Given the description of an element on the screen output the (x, y) to click on. 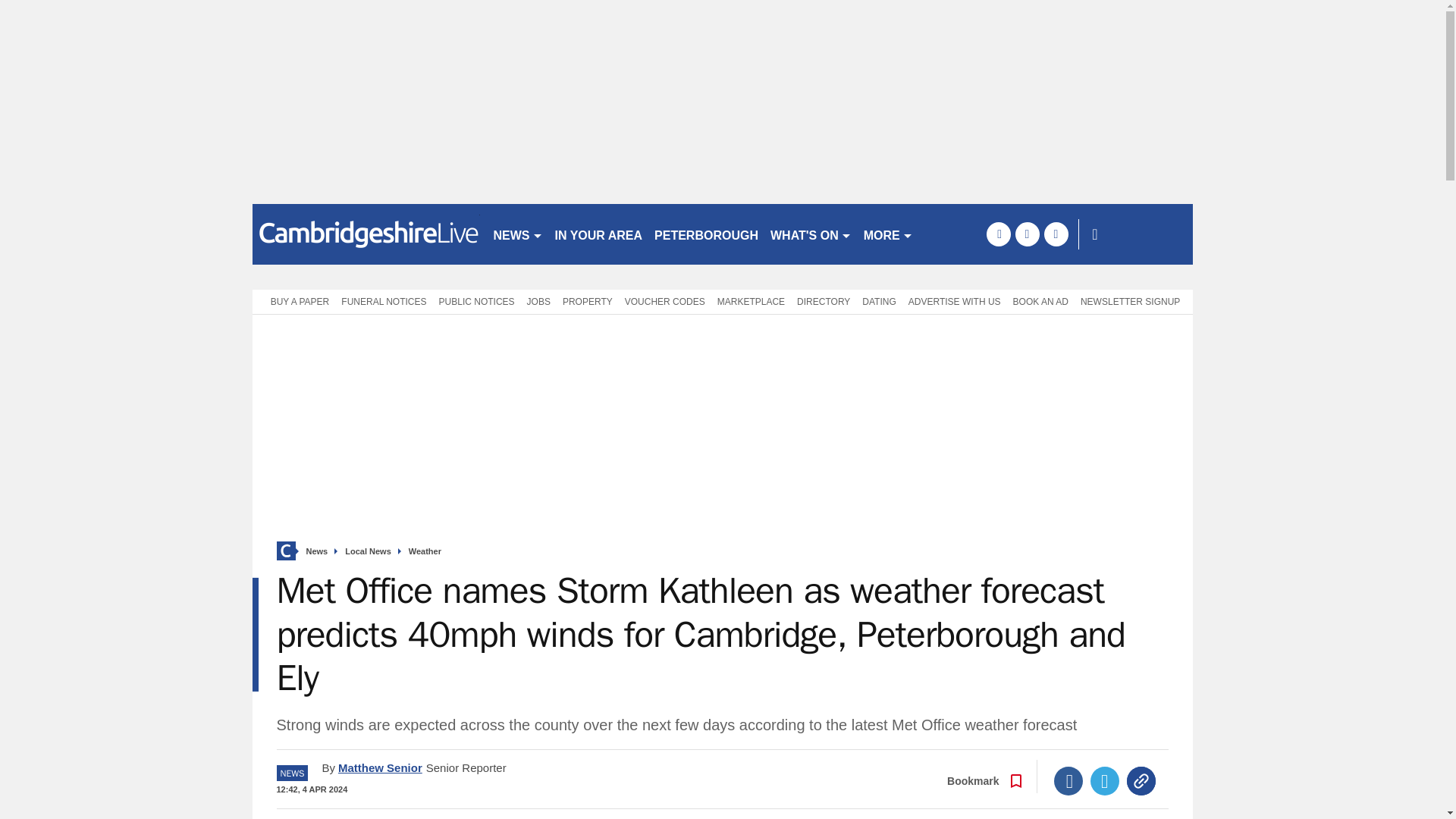
facebook (997, 233)
IN YOUR AREA (598, 233)
Twitter (1104, 780)
instagram (1055, 233)
PETERBOROUGH (705, 233)
cambridgenews (365, 233)
Facebook (1068, 780)
NEWS (517, 233)
MORE (887, 233)
twitter (1026, 233)
WHAT'S ON (810, 233)
